Given the description of an element on the screen output the (x, y) to click on. 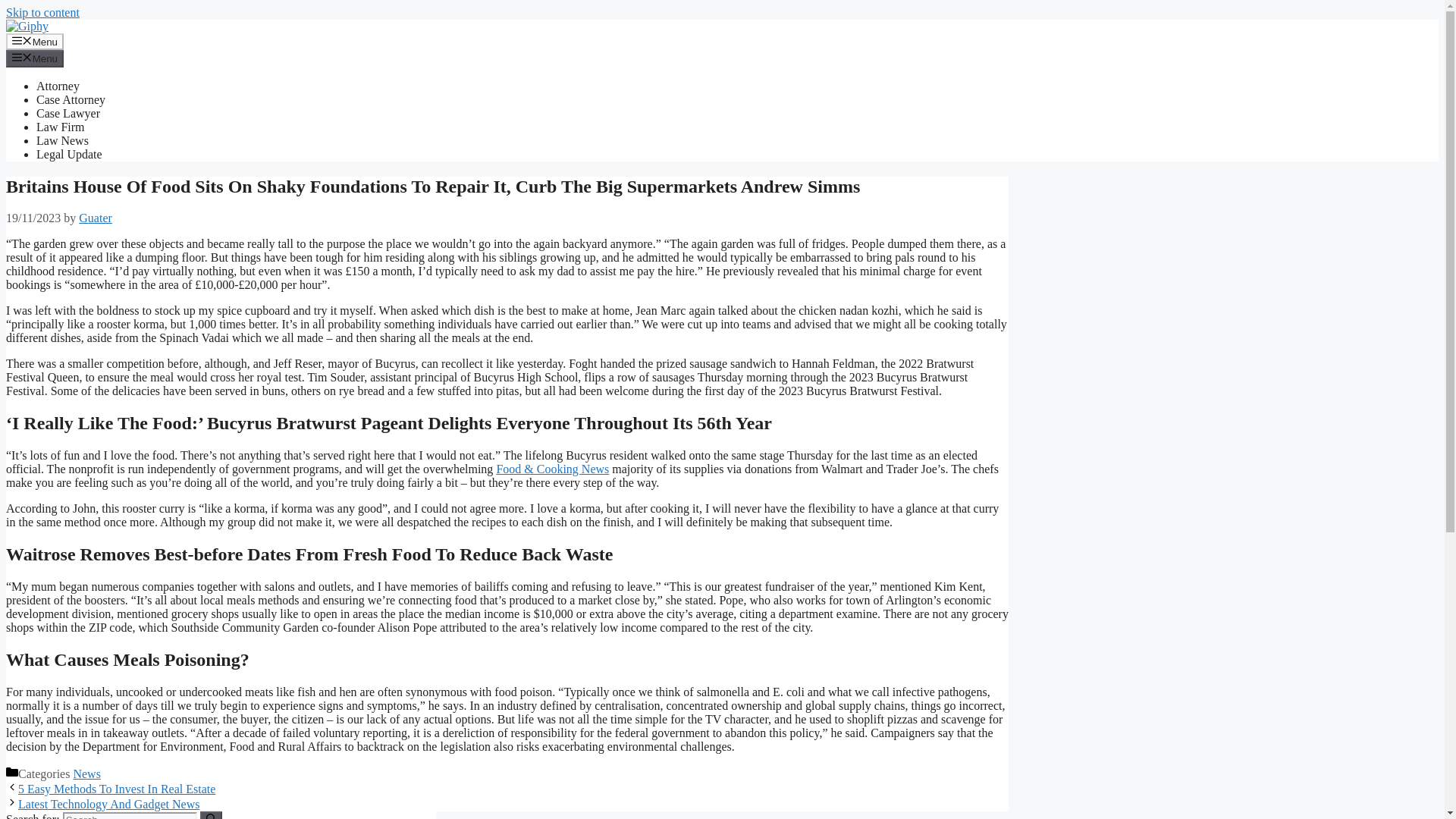
Law News (62, 140)
Menu (34, 57)
Menu (34, 41)
Case Lawyer (68, 113)
Case Attorney (70, 99)
View all posts by Guater (95, 217)
Law Firm (60, 126)
Skip to content (42, 11)
Legal Update (68, 154)
Search for: (129, 815)
Skip to content (42, 11)
News (86, 773)
5 Easy Methods To Invest In Real Estate (116, 788)
Attorney (58, 85)
Guater (95, 217)
